Given the description of an element on the screen output the (x, y) to click on. 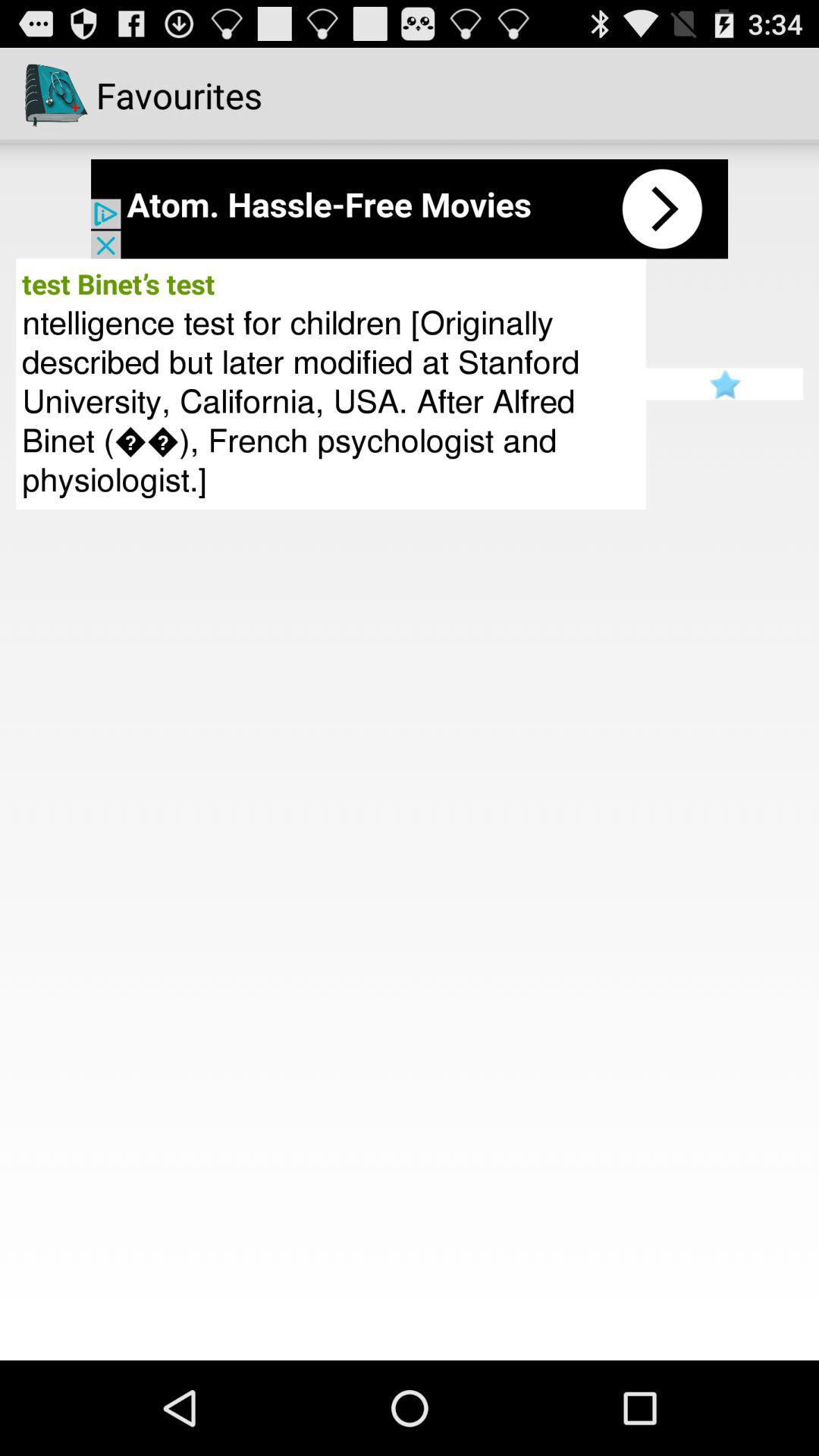
save as favorite (724, 383)
